Given the description of an element on the screen output the (x, y) to click on. 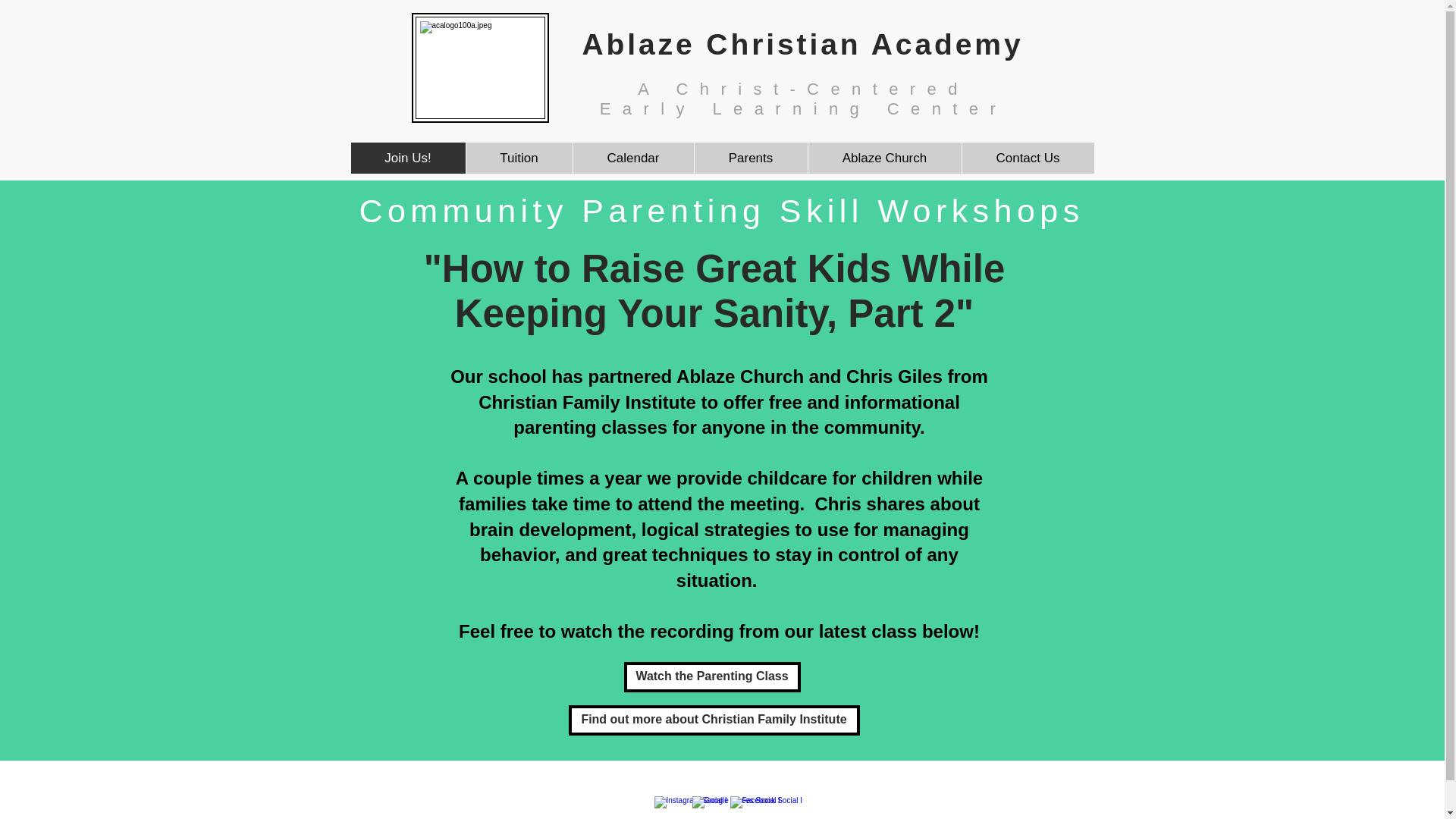
Ablaze Christian Academy (802, 43)
A Christ-Centered Early Learning Center (803, 98)
Ablaze Church (883, 157)
Parents (749, 157)
Find out more about Christian Family Institute (714, 720)
Watch the Parenting Class (711, 676)
Join Us! (407, 157)
Contact Us (1027, 157)
Tuition (518, 157)
Calendar (632, 157)
